Given the description of an element on the screen output the (x, y) to click on. 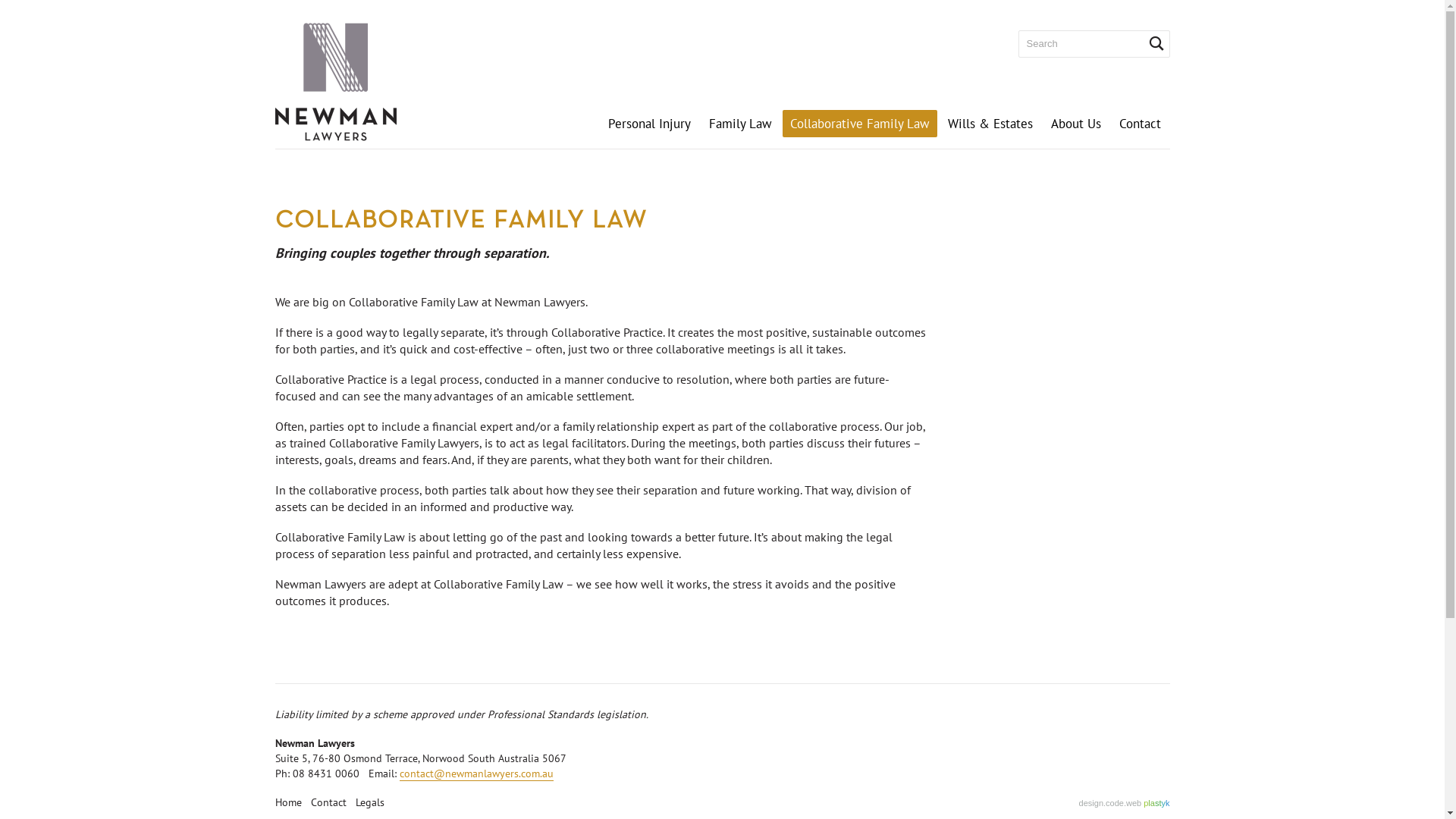
About Us Element type: text (1075, 122)
Personal Injury Element type: text (649, 122)
Contact Element type: text (328, 801)
contact@newmanlawyers.com.au Element type: text (475, 772)
design.code.web plastyk Element type: text (1124, 802)
Family Law Element type: text (739, 122)
Legals Element type: text (368, 801)
Collaborative Family Law Element type: text (859, 122)
Home Element type: text (287, 801)
Contact Element type: text (1139, 122)
Search Element type: hover (1155, 43)
Wills & Estates Element type: text (990, 122)
